Given the description of an element on the screen output the (x, y) to click on. 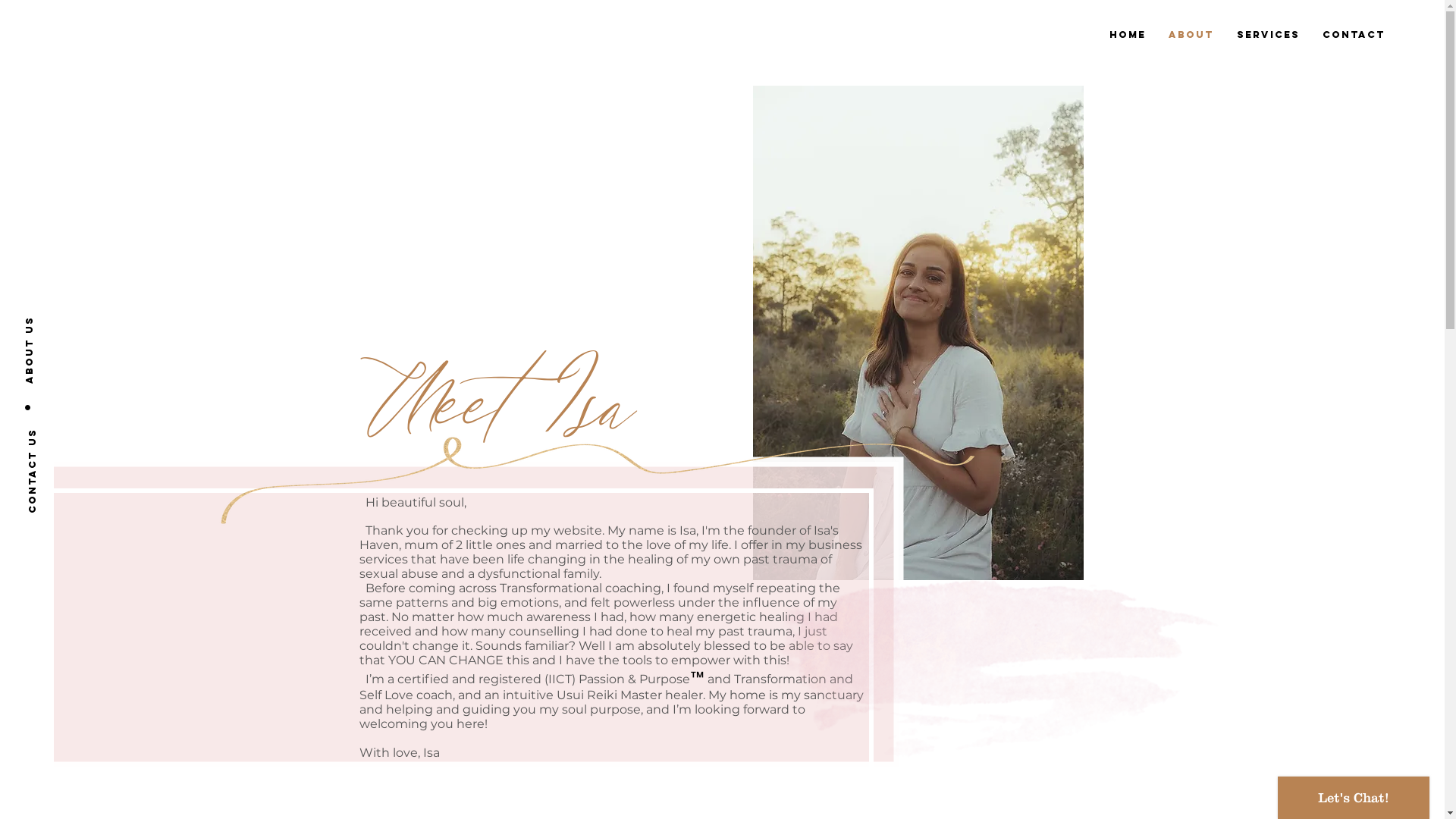
Contact Element type: text (1353, 34)
Services Element type: text (1268, 34)
About Element type: text (1191, 34)
About us Element type: text (61, 316)
Contact us Element type: text (66, 435)
Home Element type: text (1127, 34)
